Given the description of an element on the screen output the (x, y) to click on. 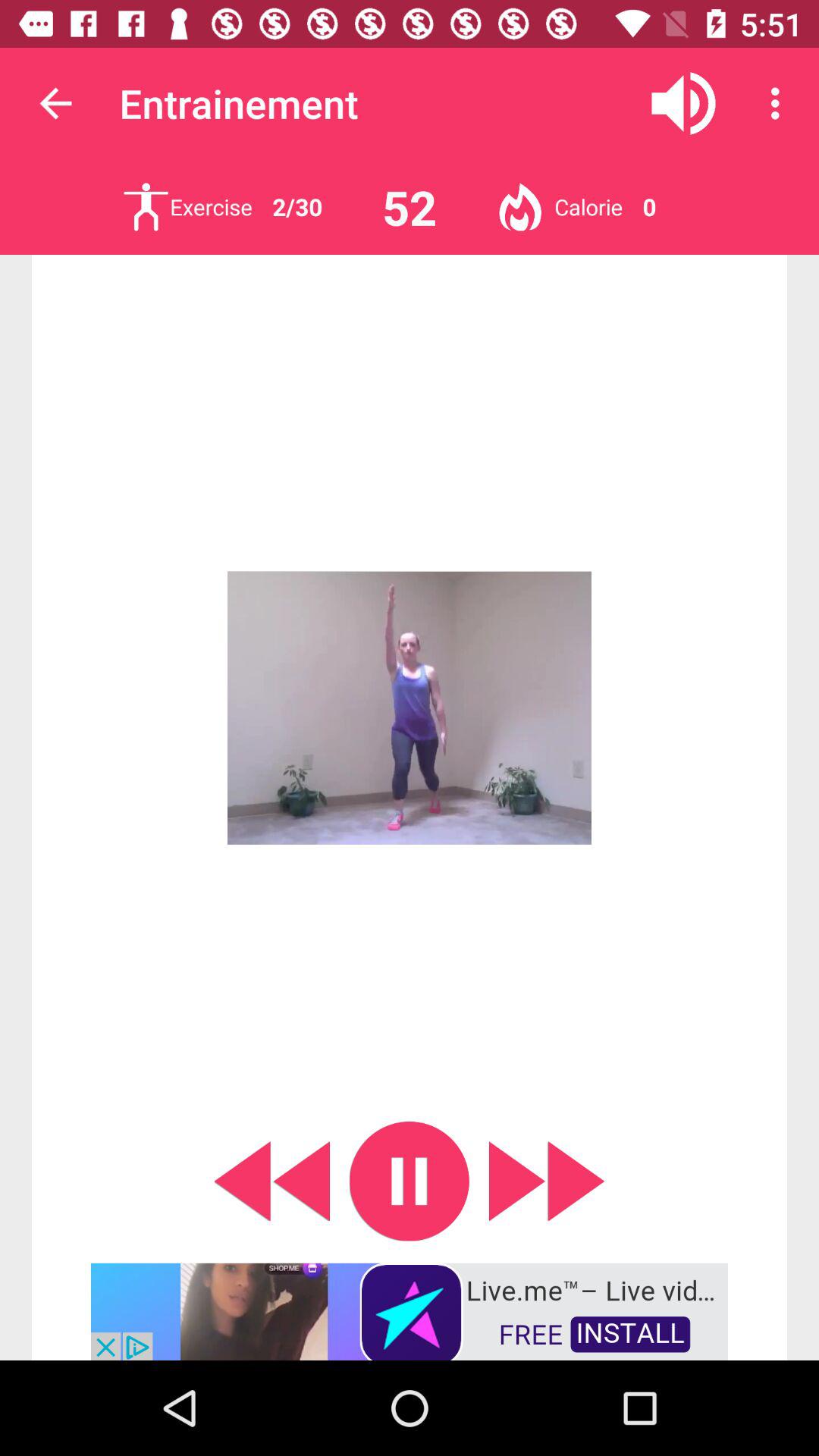
sound button (683, 103)
